Given the description of an element on the screen output the (x, y) to click on. 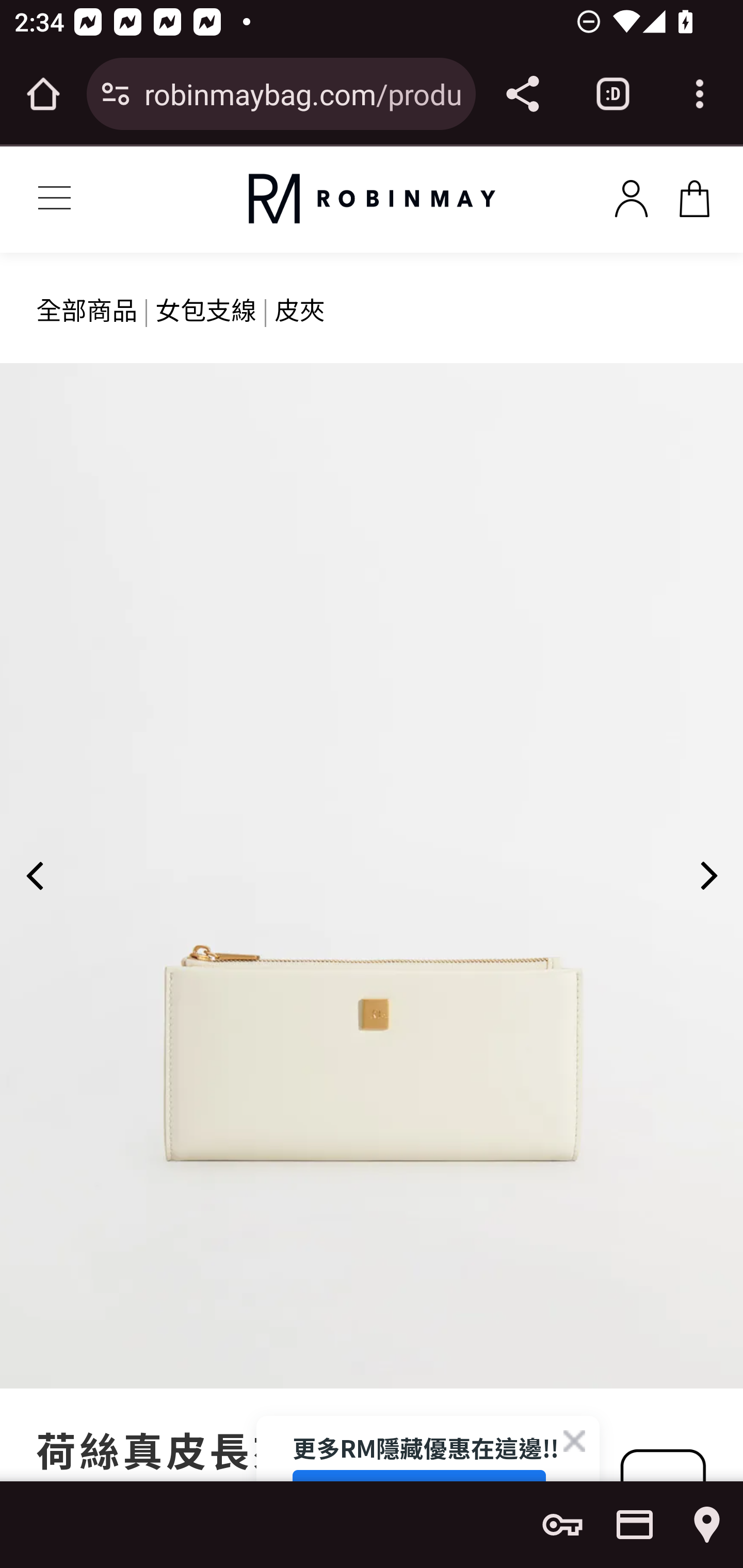
Open the home page (43, 93)
Connection is secure (115, 93)
Share (522, 93)
Switch or close tabs (612, 93)
Customize and control Google Chrome (699, 93)
original (371, 199)
x100 (631, 195)
x100 (694, 195)
全部商品 (86, 308)
女包支線 (205, 308)
皮夾 (300, 308)
Show saved passwords and password options (562, 1524)
Show saved payment methods (634, 1524)
Show saved addresses (706, 1524)
